Given the description of an element on the screen output the (x, y) to click on. 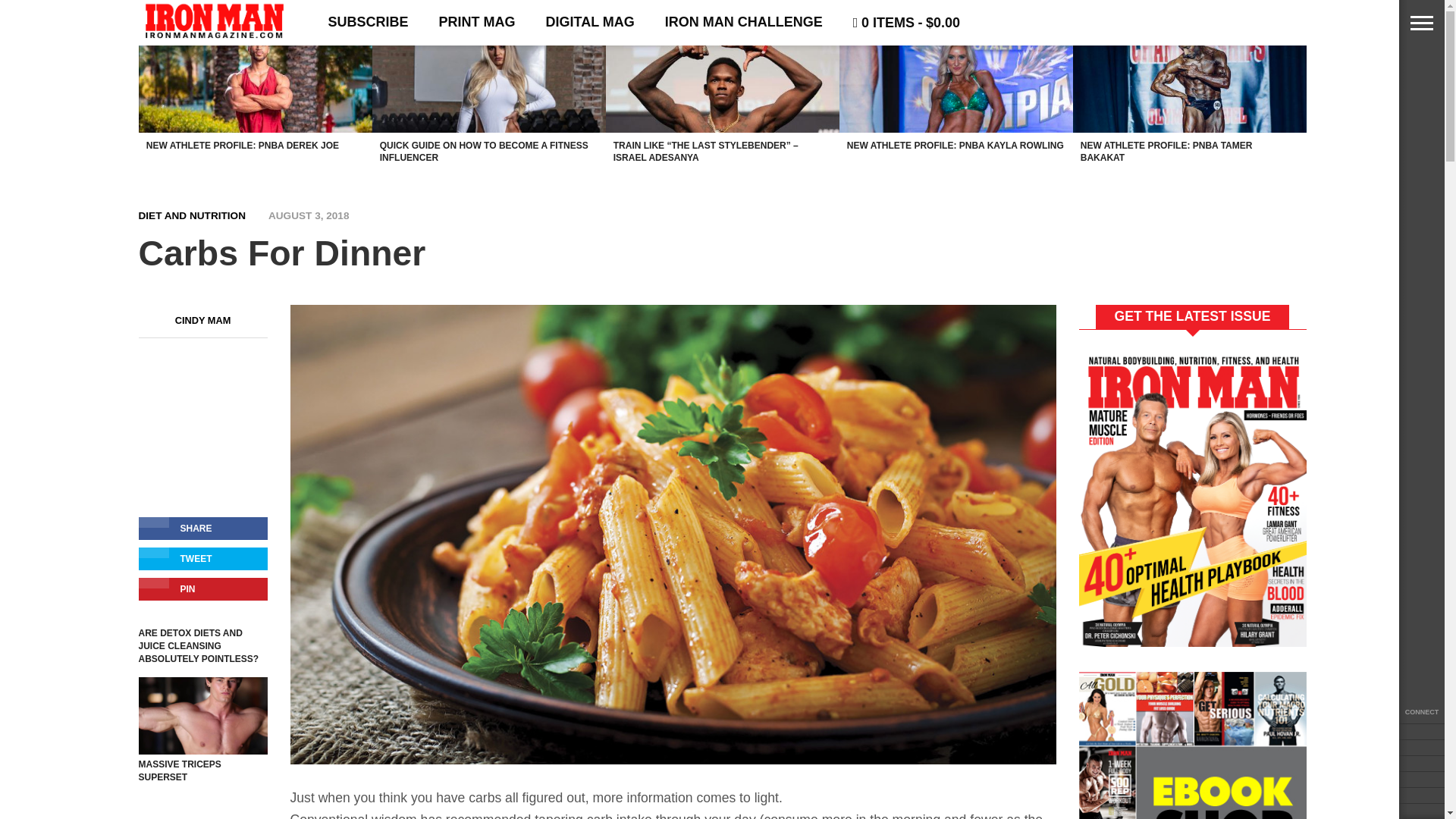
Start shopping (906, 22)
Posts by Cindy Mam (202, 319)
